Given the description of an element on the screen output the (x, y) to click on. 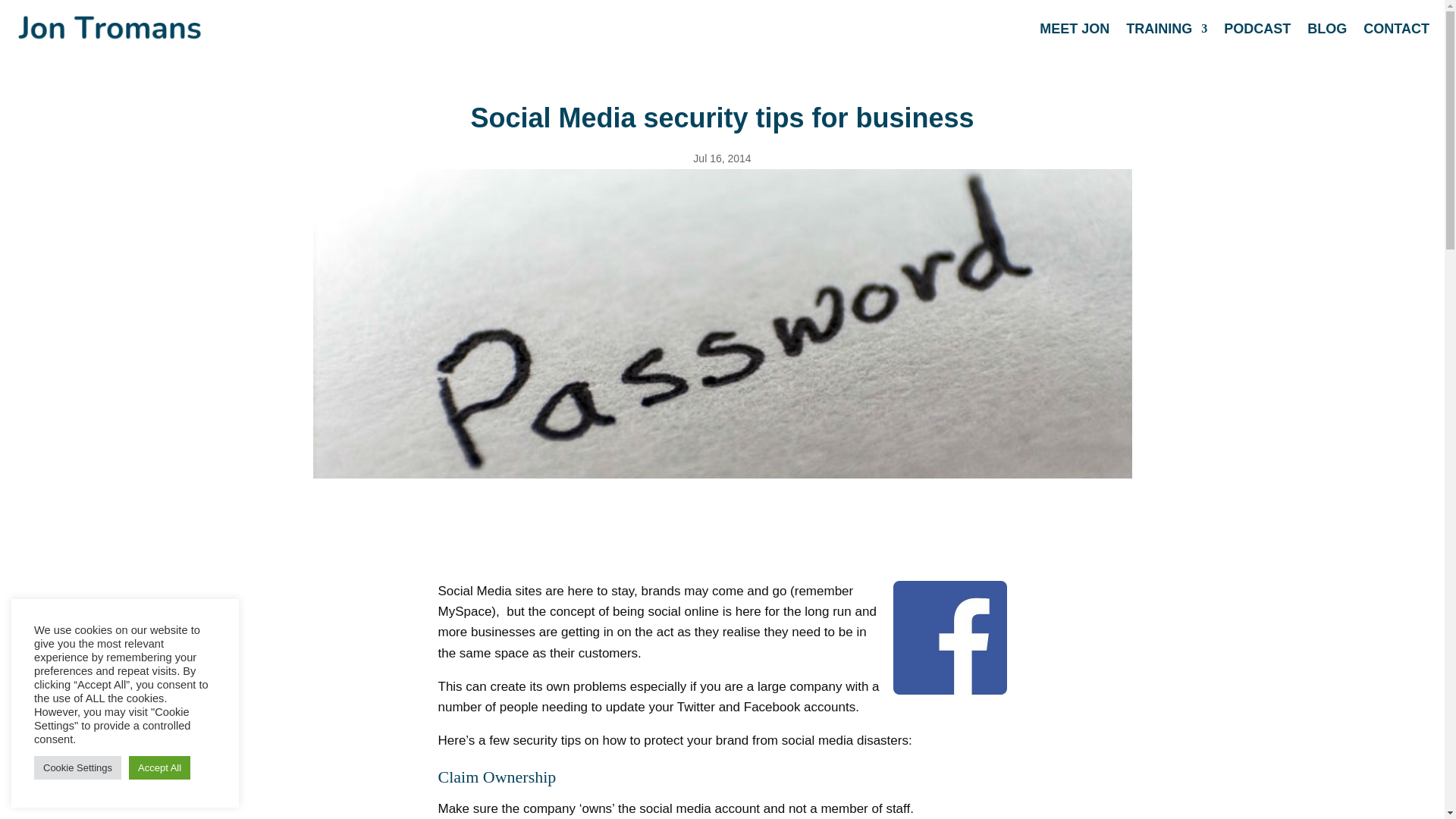
MEET JON (1074, 28)
PODCAST (1257, 28)
CONTACT (1395, 28)
TRAINING (1166, 28)
